Given the description of an element on the screen output the (x, y) to click on. 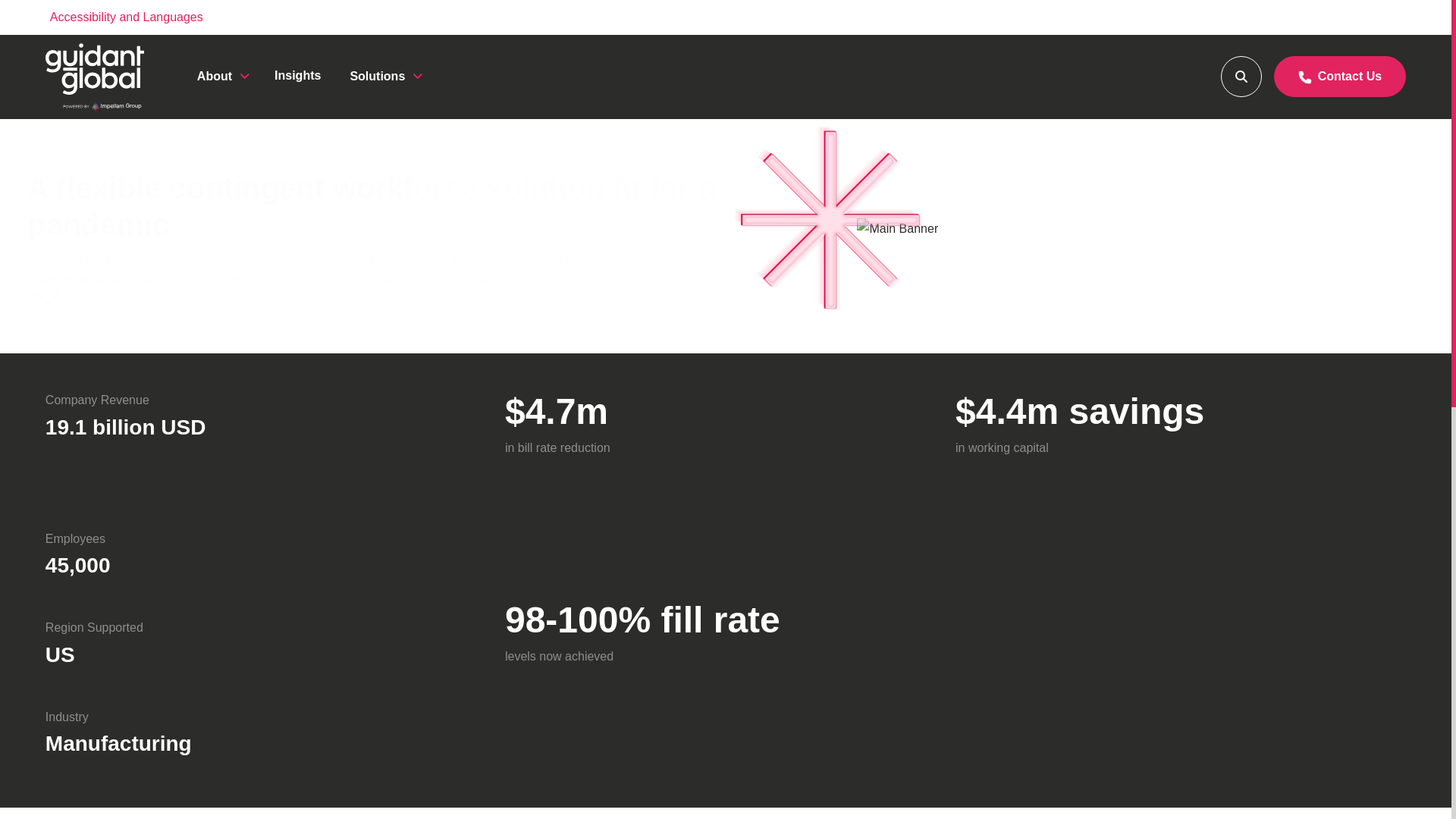
Accessibility and Languages (126, 16)
Insights (297, 74)
About (221, 76)
Guidant Global (94, 76)
Solutions (384, 76)
Contact Us (1340, 76)
